Given the description of an element on the screen output the (x, y) to click on. 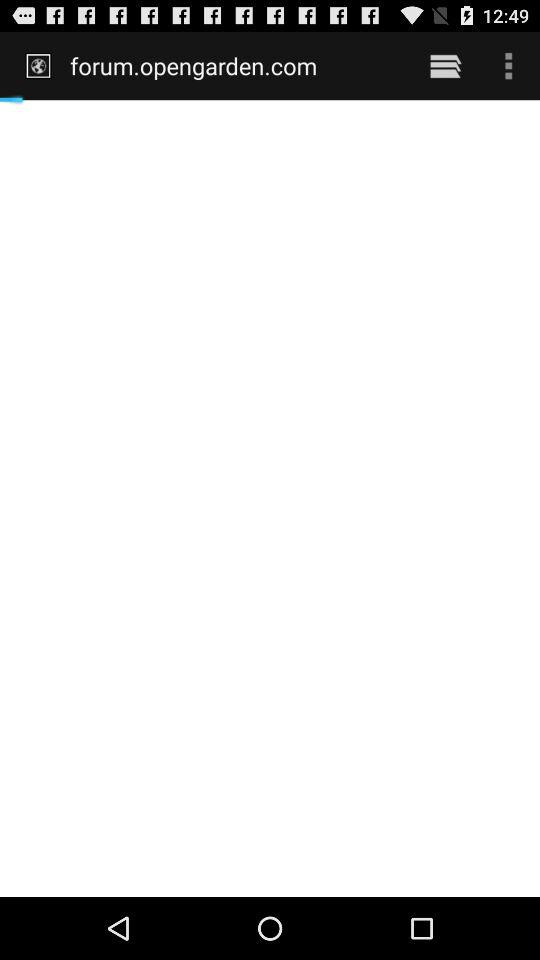
tap the icon below the forum.opengarden.com (270, 497)
